Given the description of an element on the screen output the (x, y) to click on. 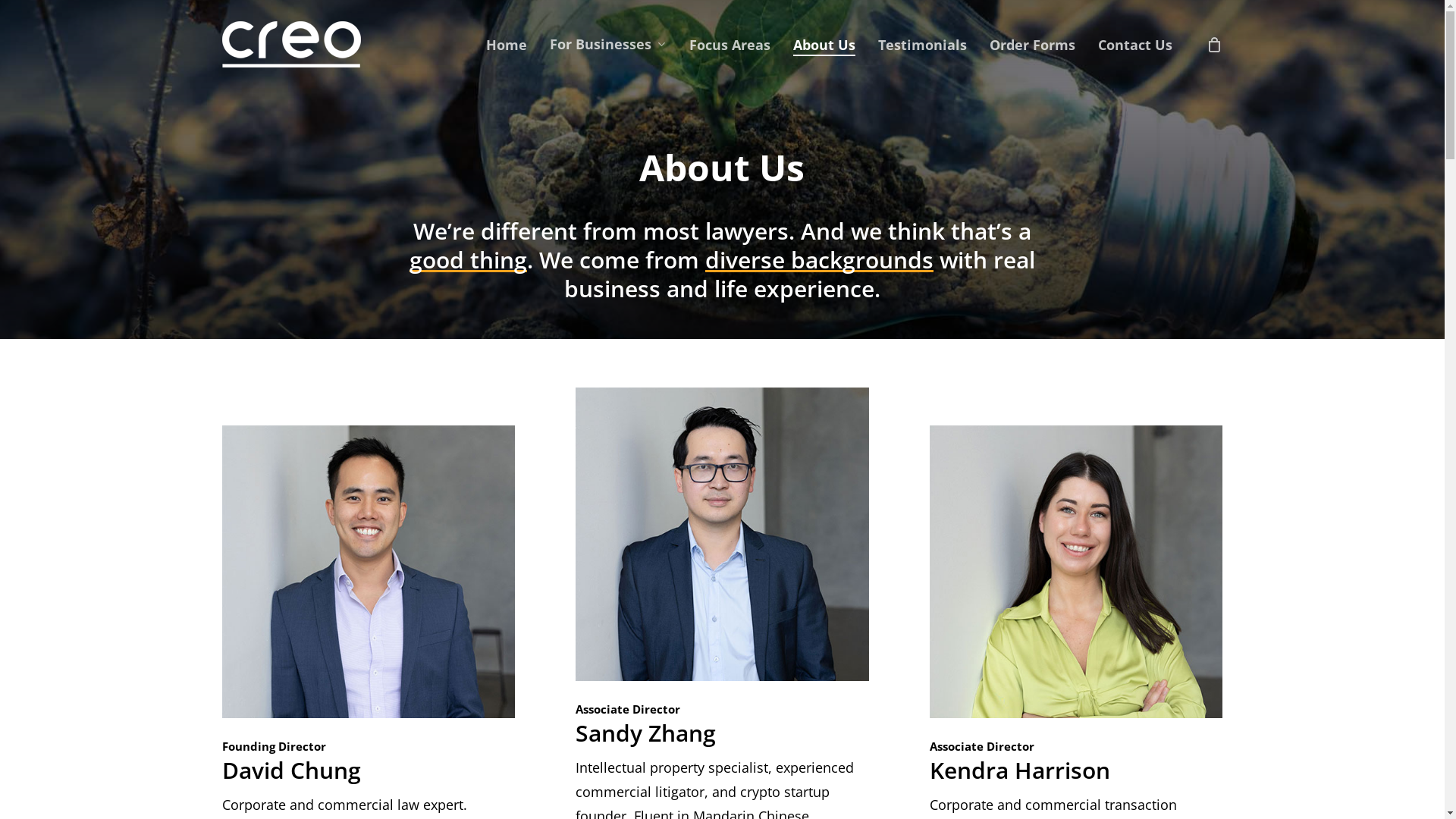
Order Forms Element type: text (1031, 44)
About Us Element type: text (824, 44)
Focus Areas Element type: text (728, 44)
Home Element type: text (505, 44)
Testimonials Element type: text (922, 44)
For Businesses Element type: text (607, 44)
Contact Us Element type: text (1135, 44)
